Given the description of an element on the screen output the (x, y) to click on. 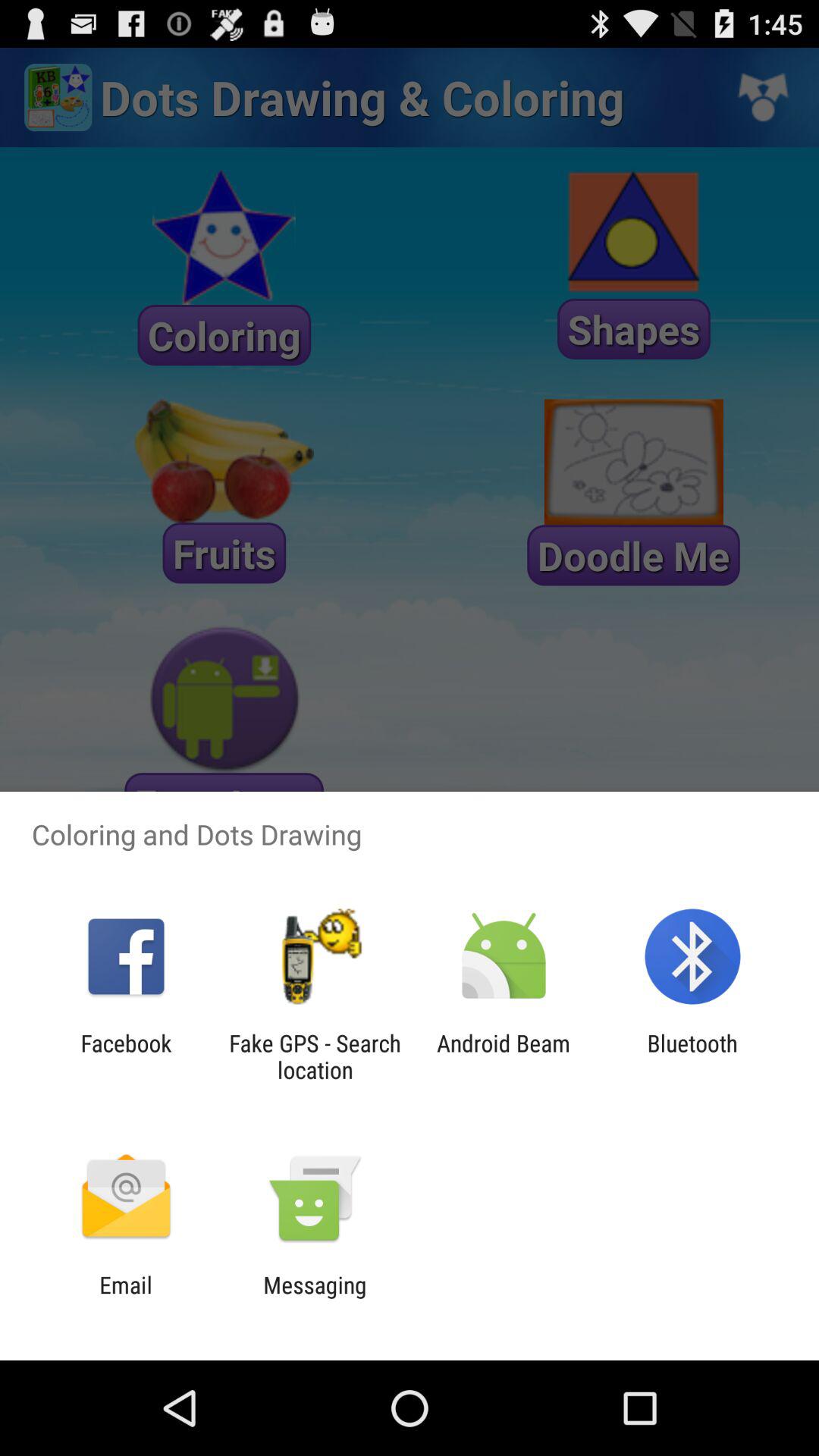
open the app to the right of email icon (314, 1298)
